Given the description of an element on the screen output the (x, y) to click on. 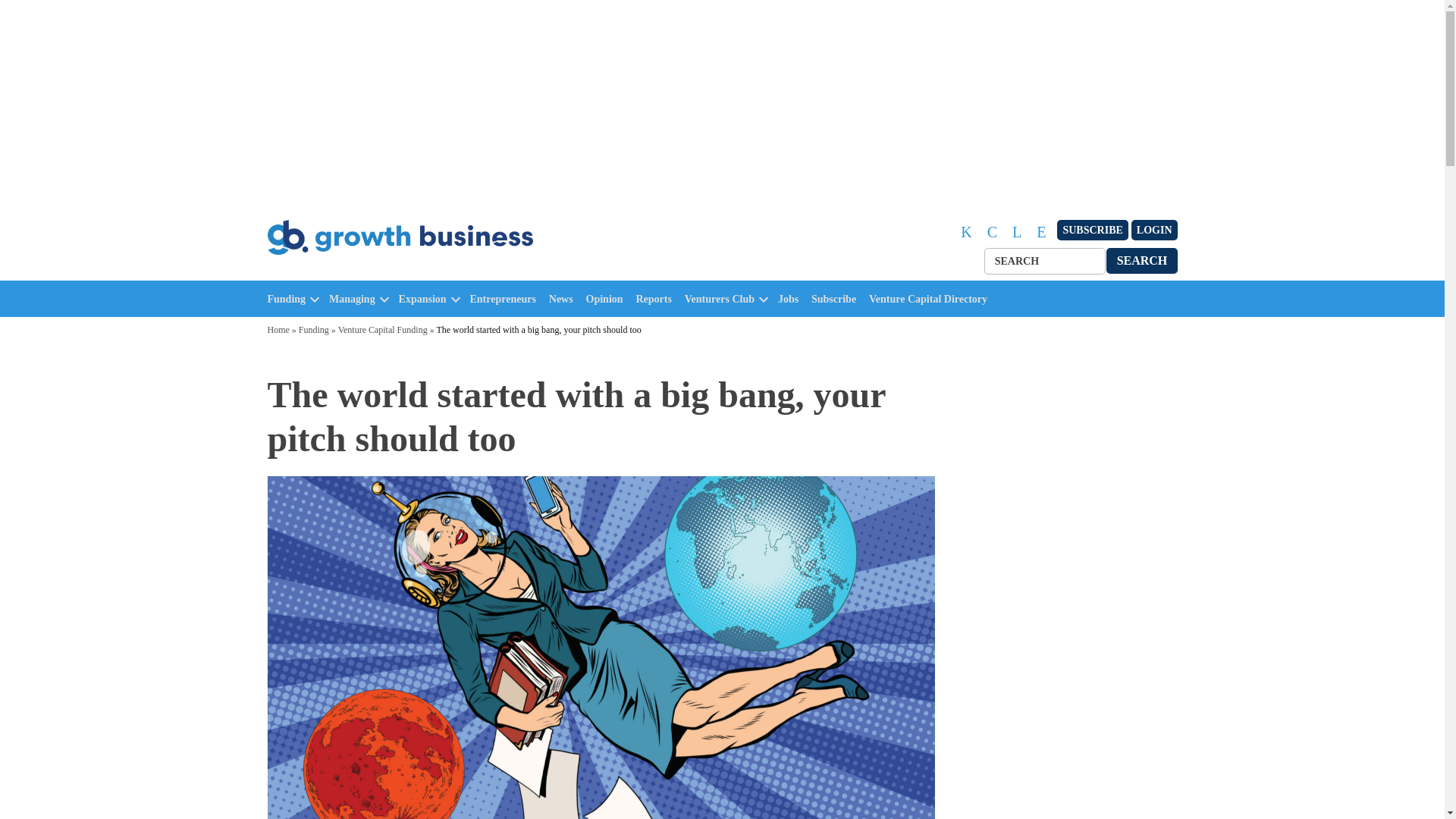
SUBSCRIBE (1091, 230)
SEARCH (1142, 260)
Opinion (608, 298)
Growth Business (332, 271)
3rd party ad content (1062, 467)
News (564, 298)
Entrepreneurs (506, 298)
LOGIN (1154, 230)
Reports (656, 298)
Expansion (422, 298)
Managing (352, 298)
Funding (285, 298)
